Given the description of an element on the screen output the (x, y) to click on. 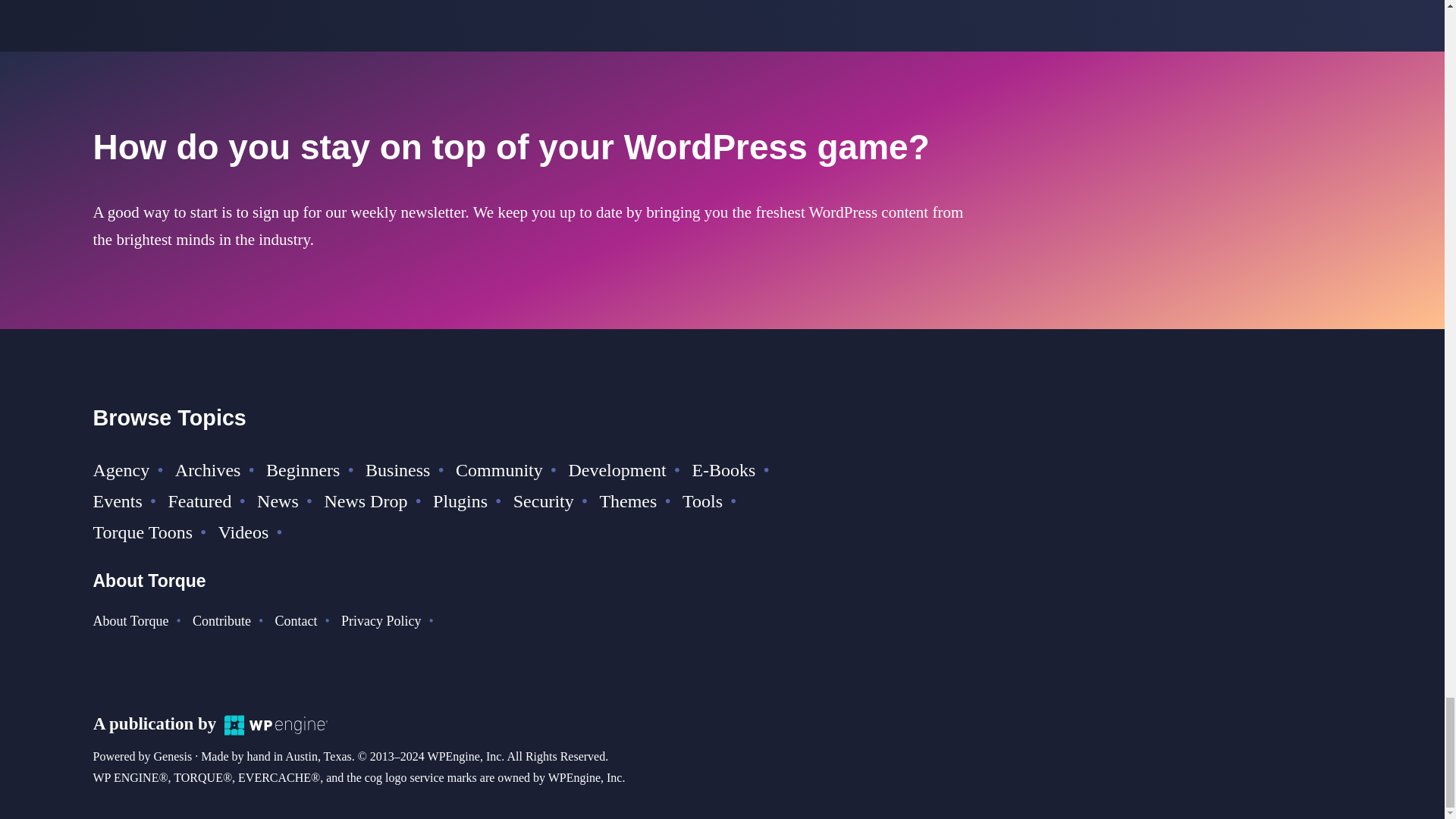
A publication by (210, 723)
